Given the description of an element on the screen output the (x, y) to click on. 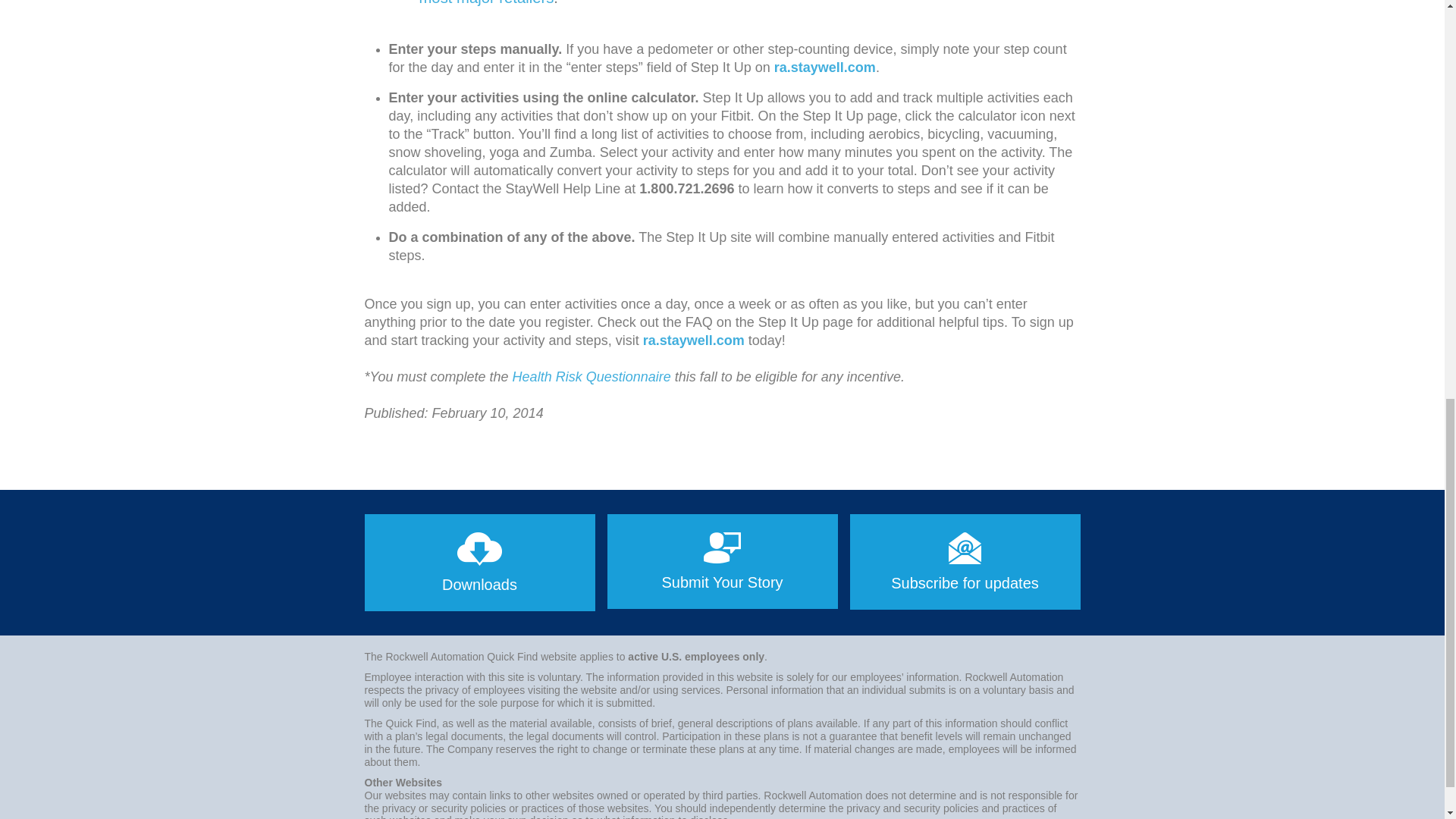
Health Risk Questionnaire (591, 376)
ra.staywell.com (693, 340)
Subscribe for updates (964, 561)
ra.staywell.com (825, 67)
most major retailers (486, 2)
Downloads (479, 562)
Submit Your Story (722, 561)
